Given the description of an element on the screen output the (x, y) to click on. 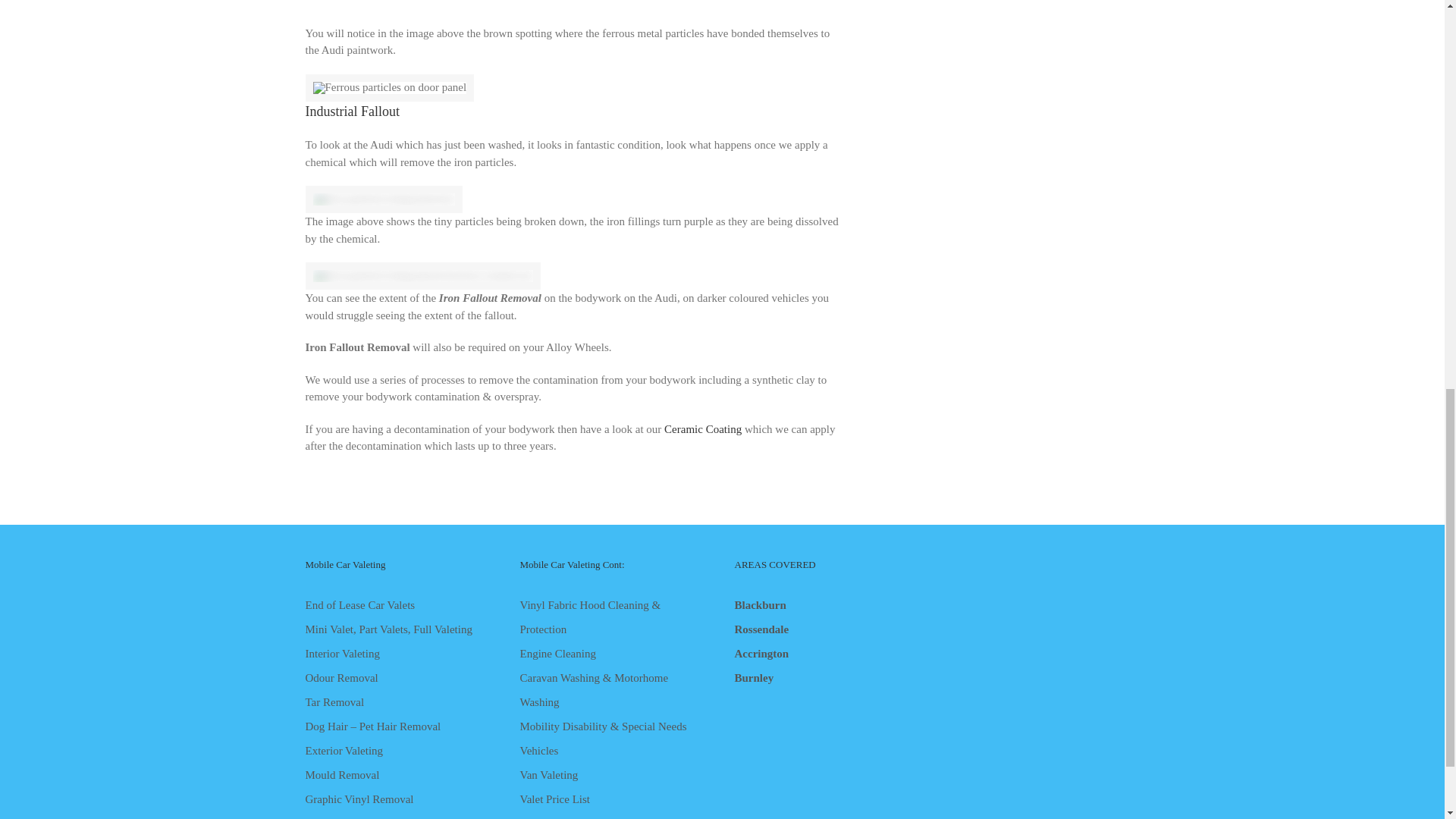
Exterior Valeting (399, 750)
Ferrous Metal Audi (389, 87)
End of Lease Car Valets (399, 604)
Odour Removal (399, 677)
Ferrous Metal (422, 275)
Interior Valeting (399, 653)
Ferrous Metal Audi (383, 199)
Tar Removal  (399, 702)
Mould Removal (399, 774)
Graphic Vinyl Removal (399, 799)
Ceramic Coating (702, 428)
Mini Valet, Part Valets, Full Valeting (399, 629)
